Given the description of an element on the screen output the (x, y) to click on. 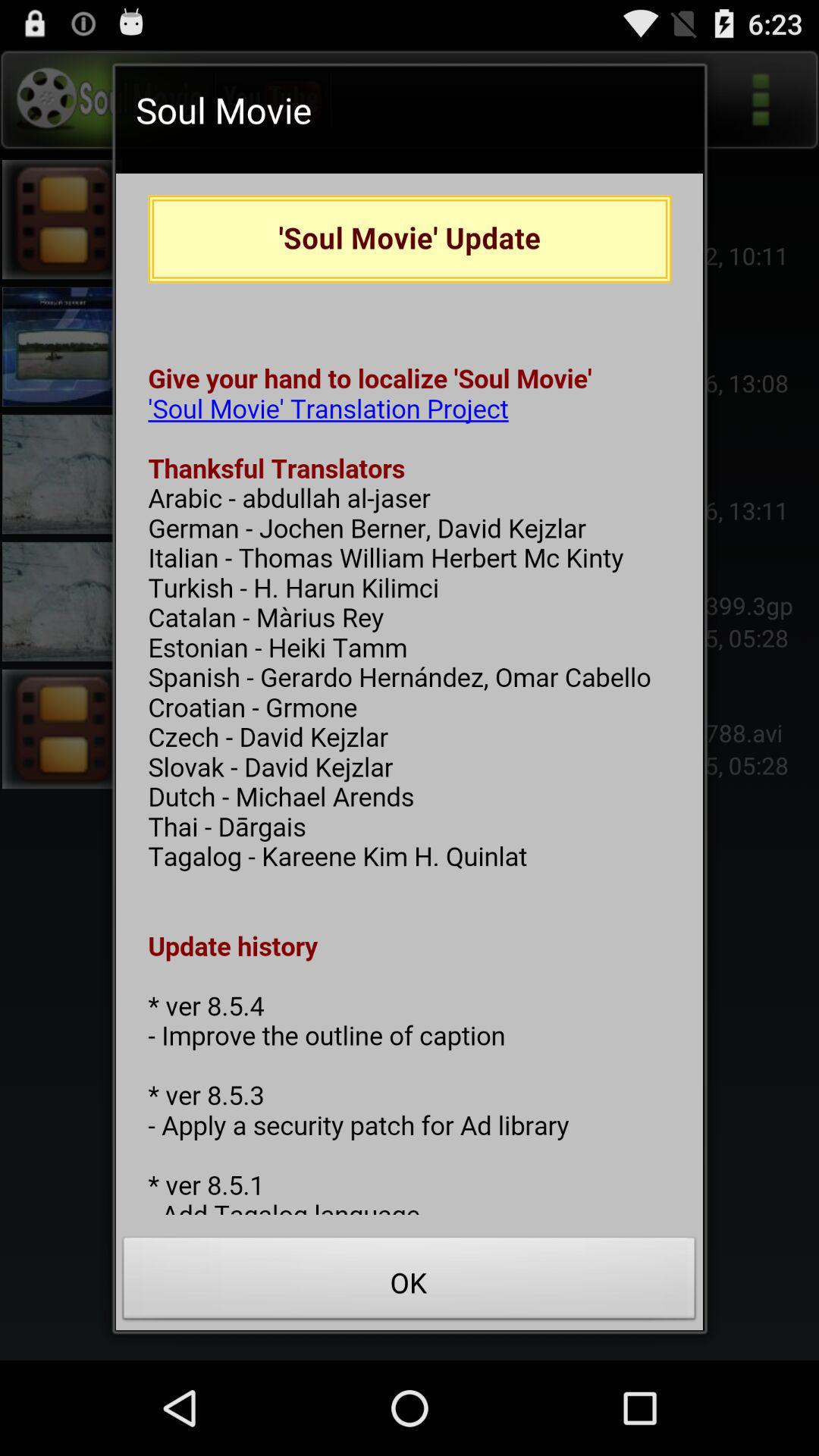
link to website (409, 693)
